Given the description of an element on the screen output the (x, y) to click on. 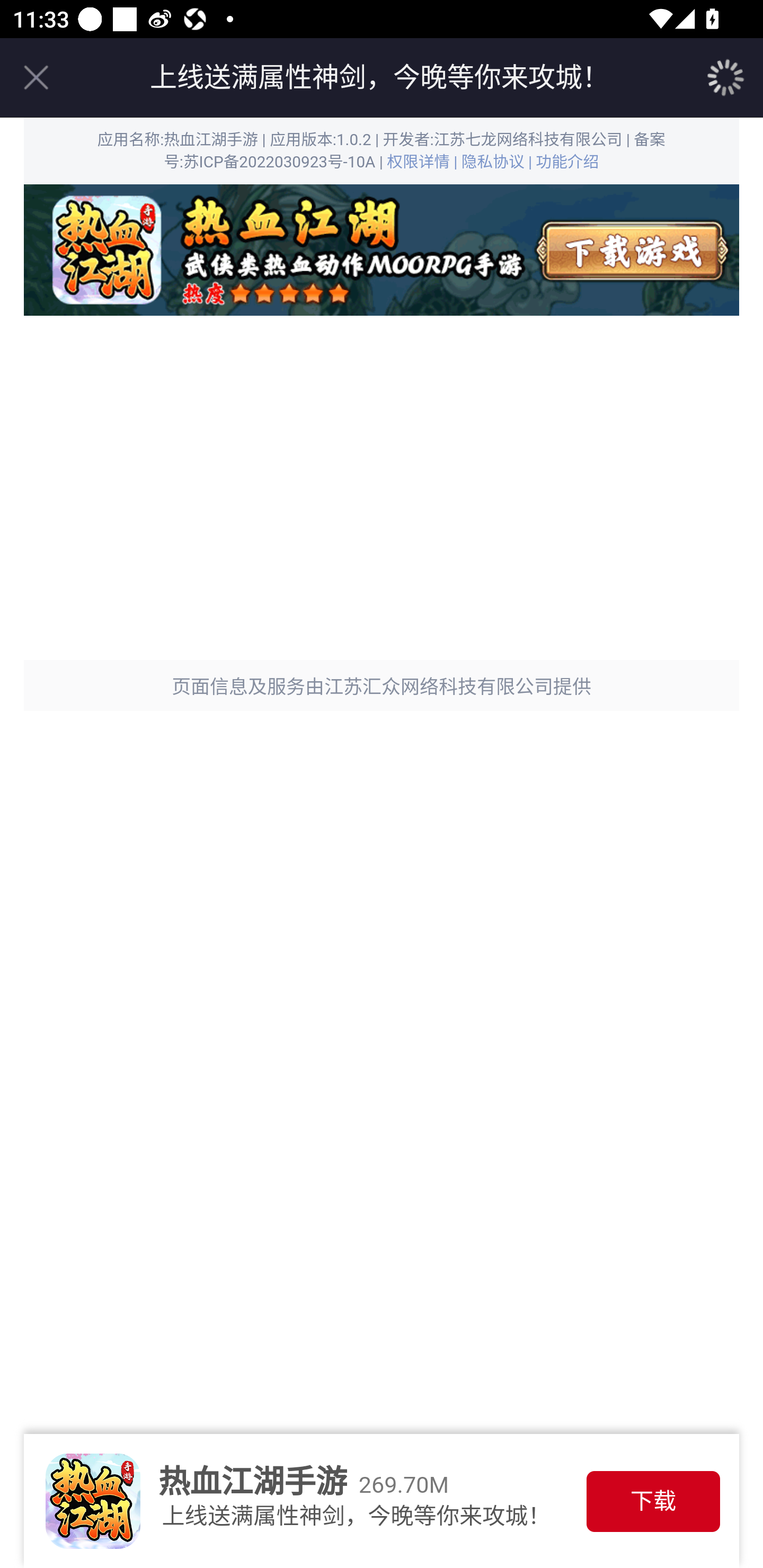
上线送满属性神剑，今晚等你来攻城！ (379, 77)
0?tp=webp (381, 249)
下载 (653, 1500)
